Given the description of an element on the screen output the (x, y) to click on. 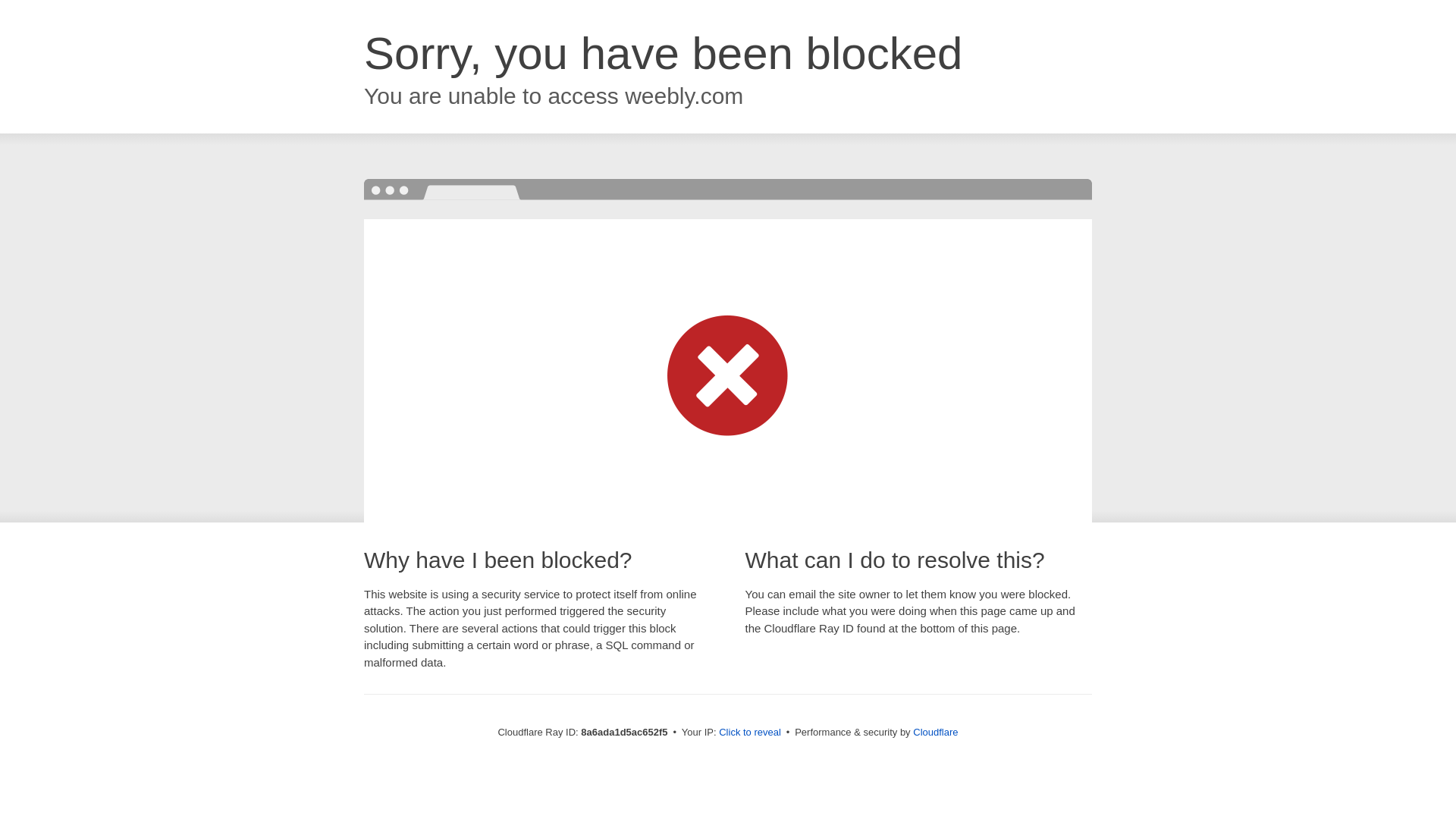
Cloudflare (935, 731)
Click to reveal (749, 732)
